Given the description of an element on the screen output the (x, y) to click on. 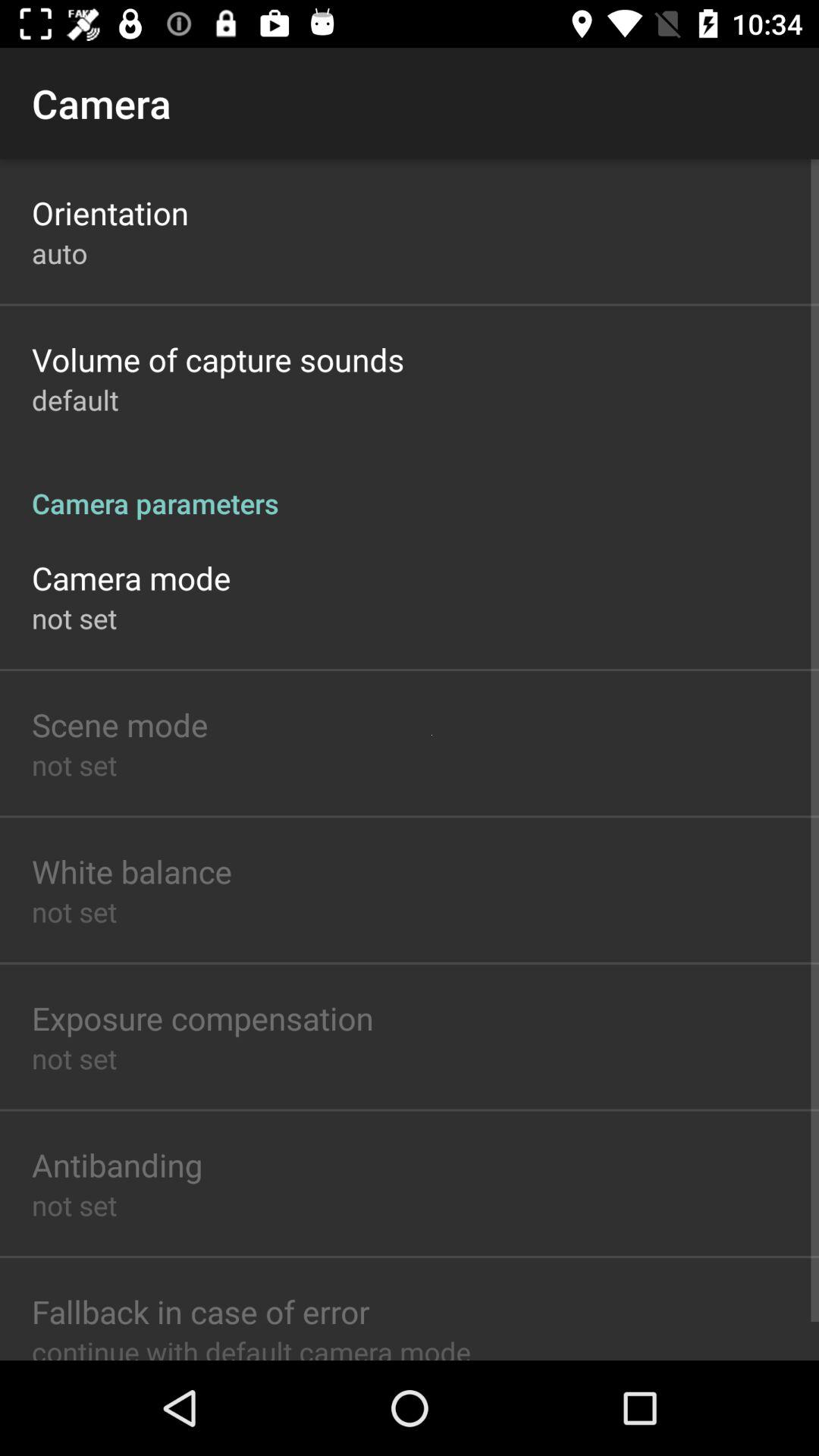
scroll until the fallback in case app (200, 1311)
